Given the description of an element on the screen output the (x, y) to click on. 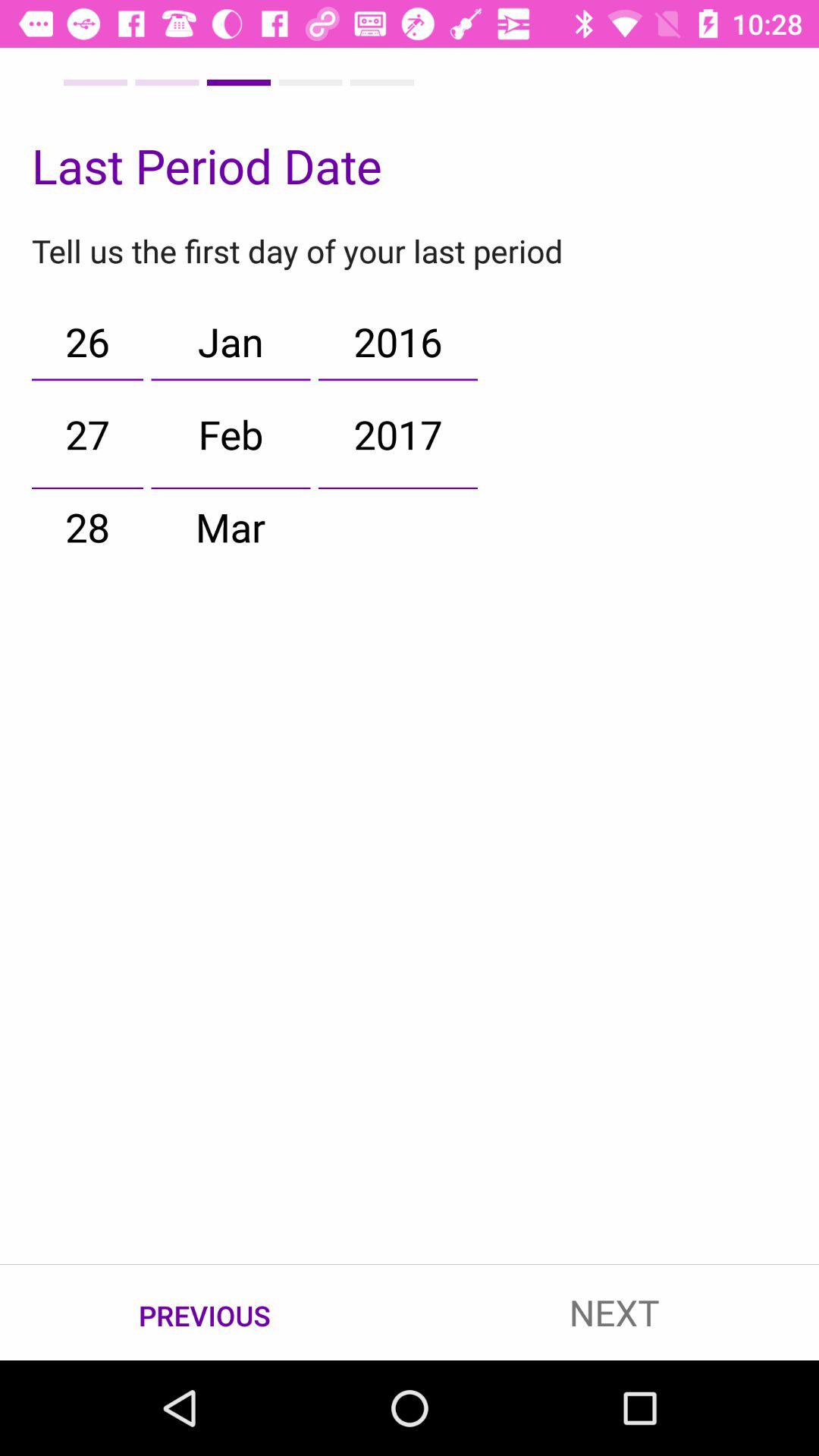
tap the icon to the right of previous item (614, 1312)
